Given the description of an element on the screen output the (x, y) to click on. 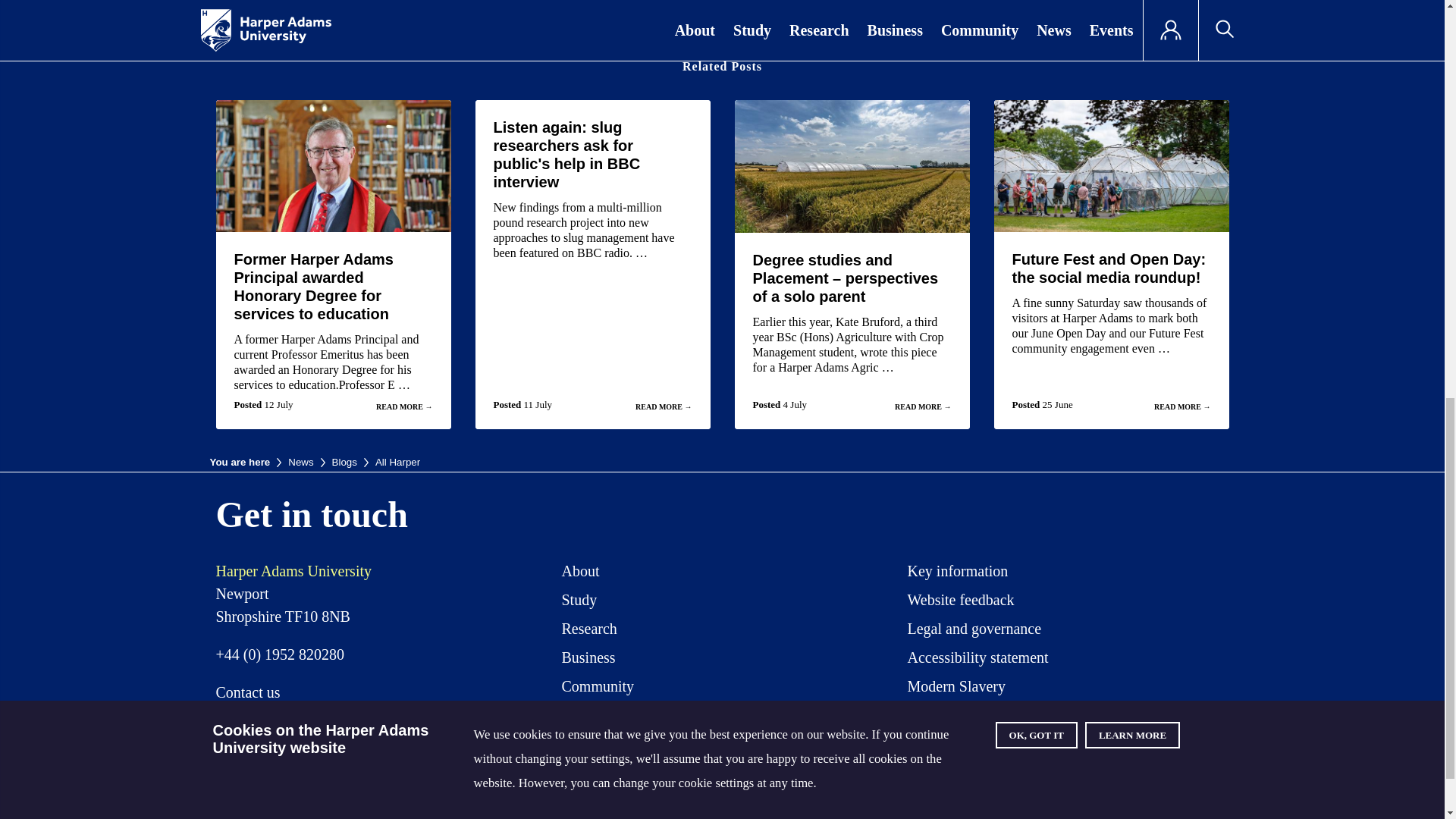
Modern Slavery Act PDF - opens in a new window (955, 688)
Vimeo - opens in a new window (1101, 770)
Instagram - opens in a new window (1044, 770)
Facebook - opens in a new window (989, 770)
LinkedIn - opens in a new window (1157, 770)
X - opens in a new window (932, 770)
